Given the description of an element on the screen output the (x, y) to click on. 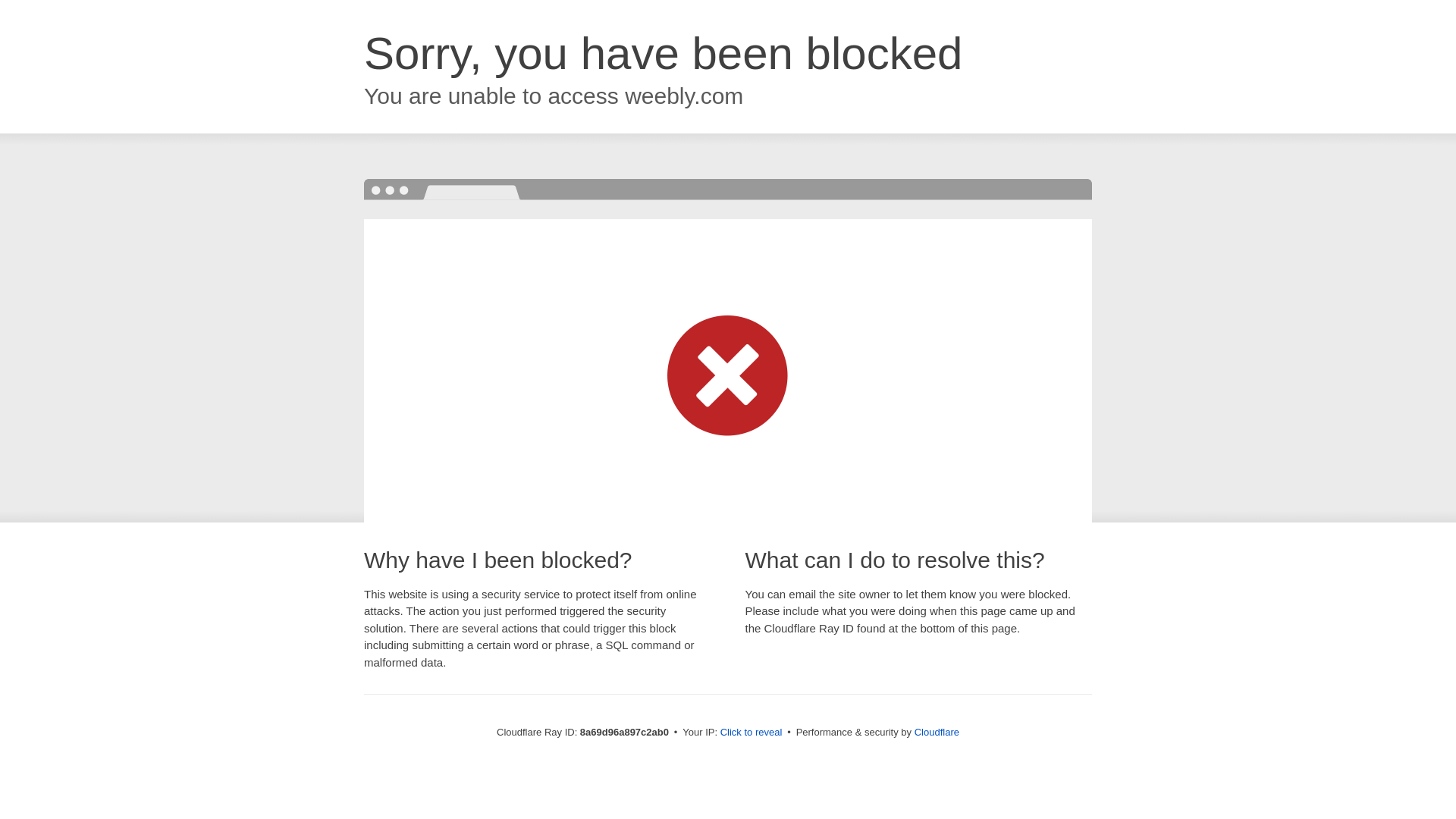
Click to reveal (751, 732)
Cloudflare (936, 731)
